Given the description of an element on the screen output the (x, y) to click on. 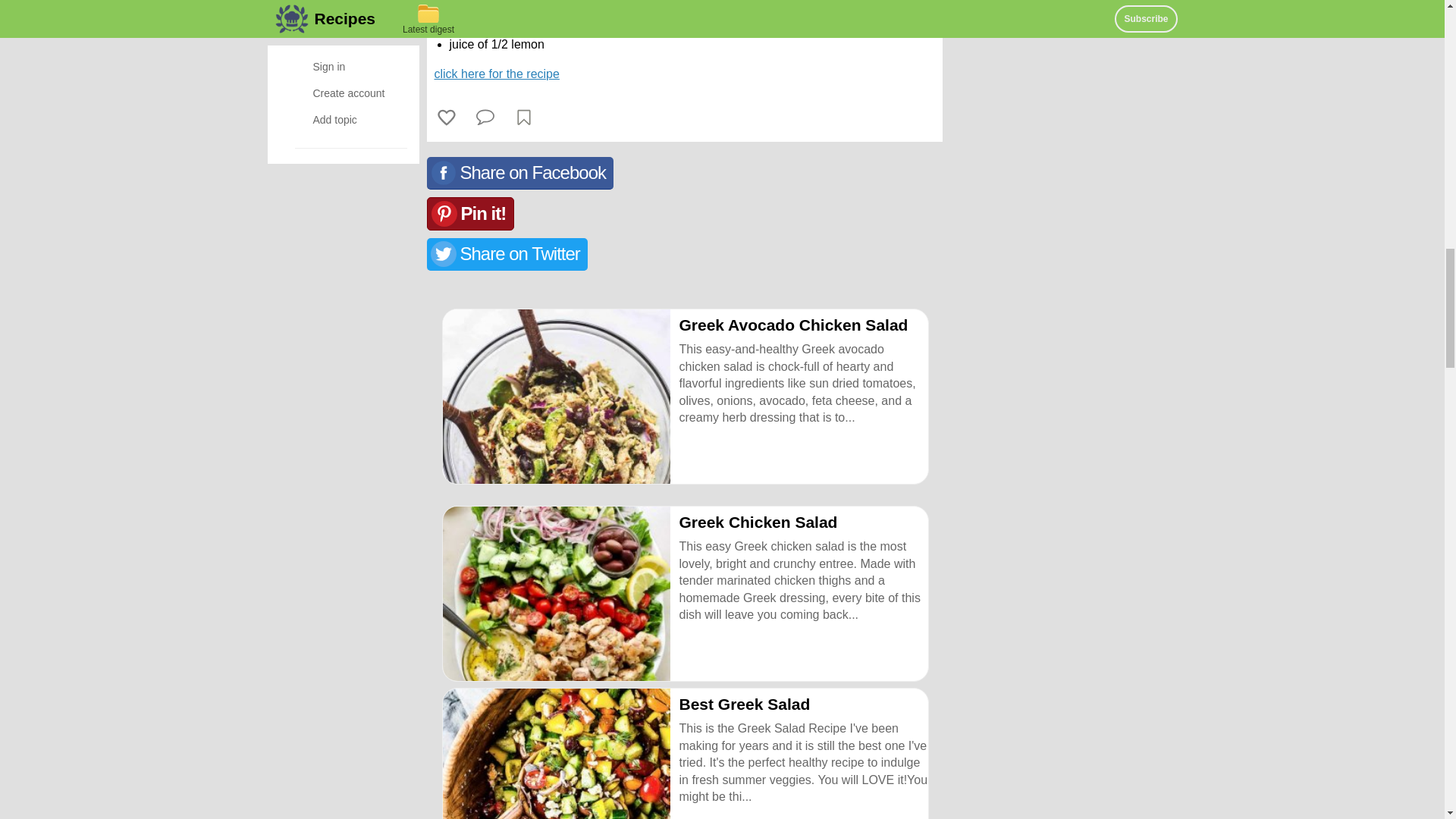
Share on Facebook (519, 173)
click here for the recipe (496, 73)
Pin it! (469, 213)
